Given the description of an element on the screen output the (x, y) to click on. 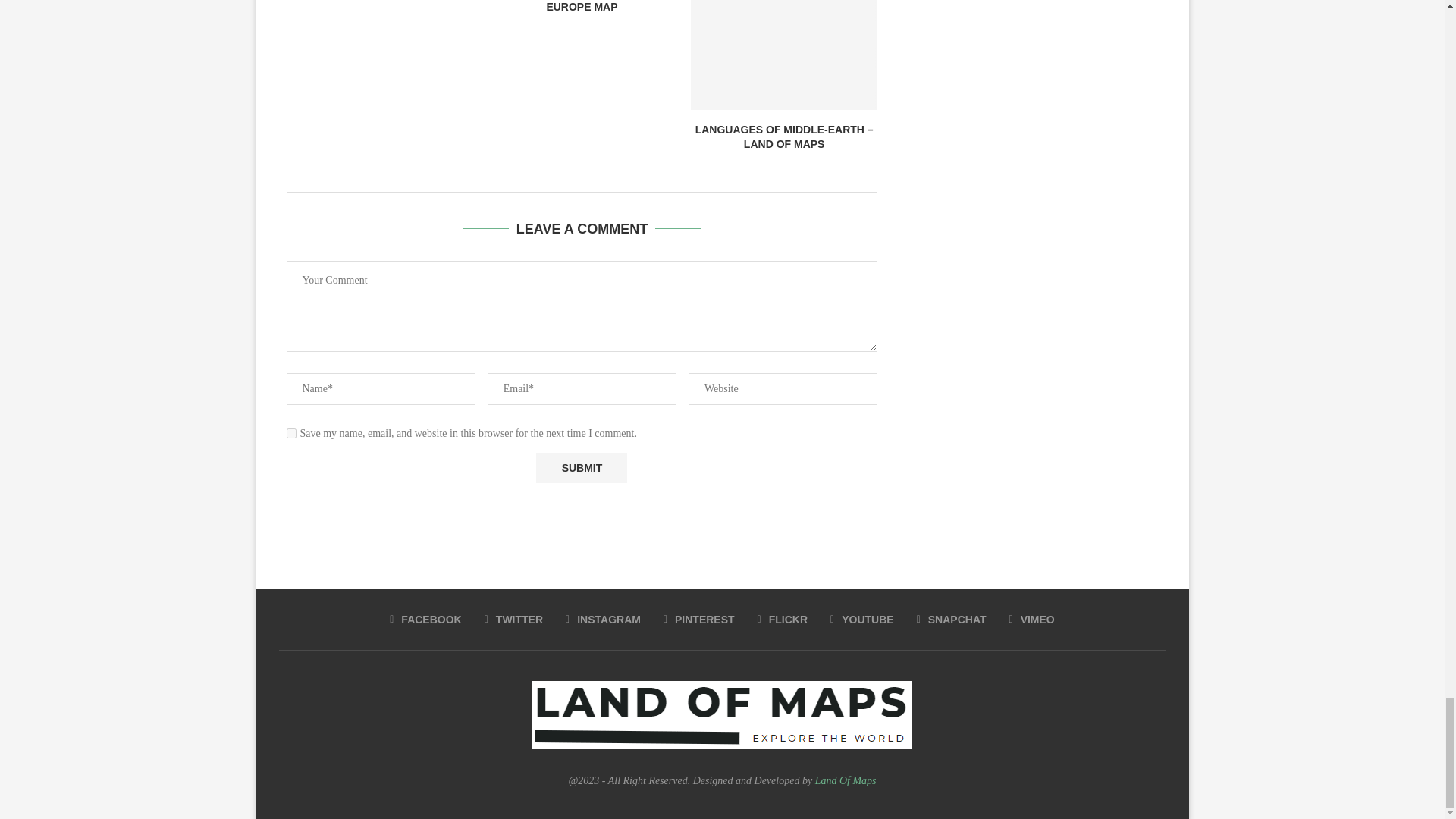
yes (291, 433)
Submit (581, 468)
